Given the description of an element on the screen output the (x, y) to click on. 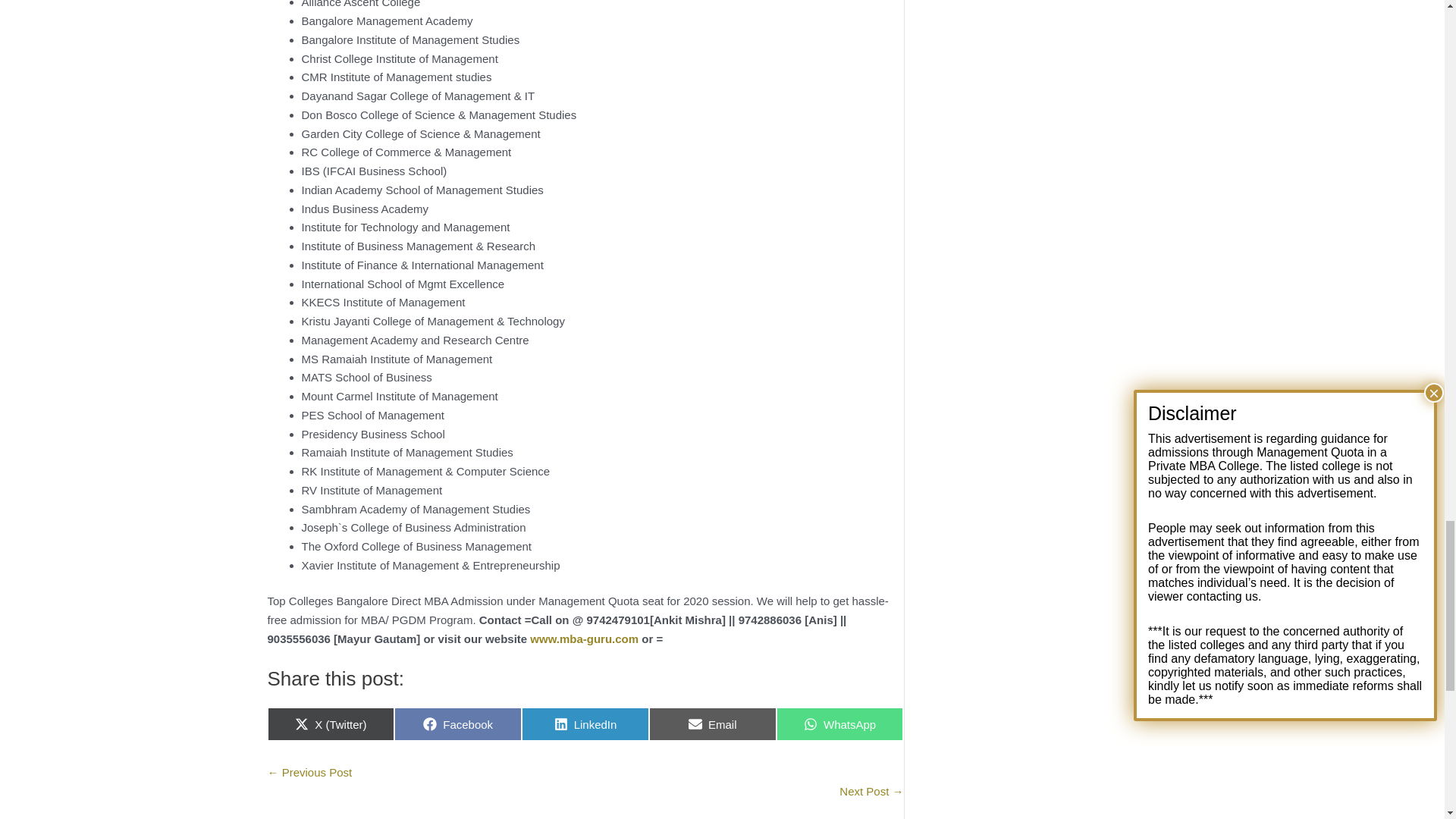
IMT Ghaziabad Direct Admission MBA (309, 771)
How to Prepare for Direct MBA Admission in TISS Mumbai (871, 790)
